Given the description of an element on the screen output the (x, y) to click on. 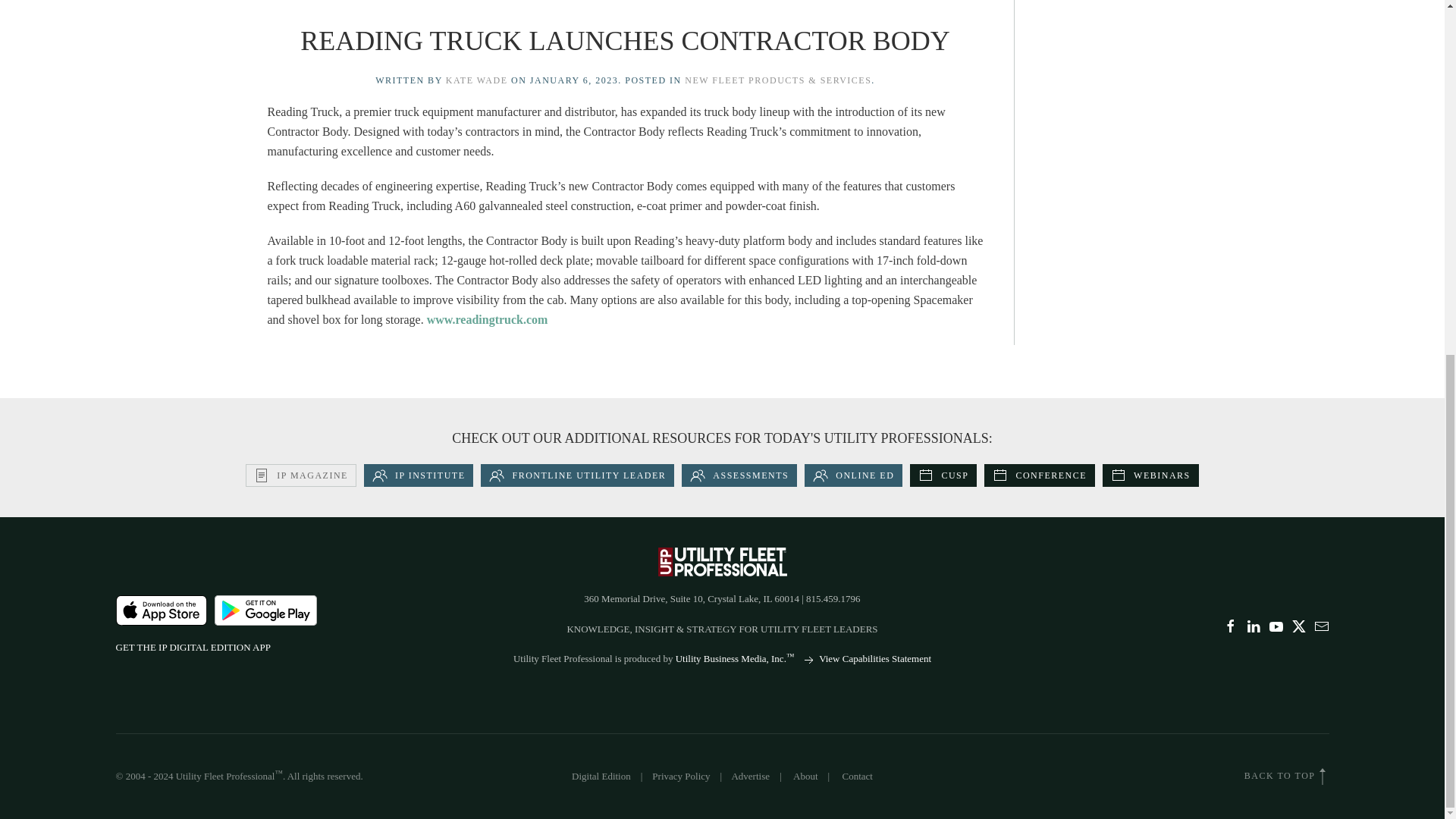
iP Institute (419, 475)
iPi Online Education (853, 475)
Frontline Microlearning Webinars (1150, 475)
Frontline Utility Leadership Education (577, 475)
Incident Prevention Magazine (301, 475)
Capabilities Statement (866, 658)
CUSP Certification (943, 475)
Assess My Team (738, 475)
